Given the description of an element on the screen output the (x, y) to click on. 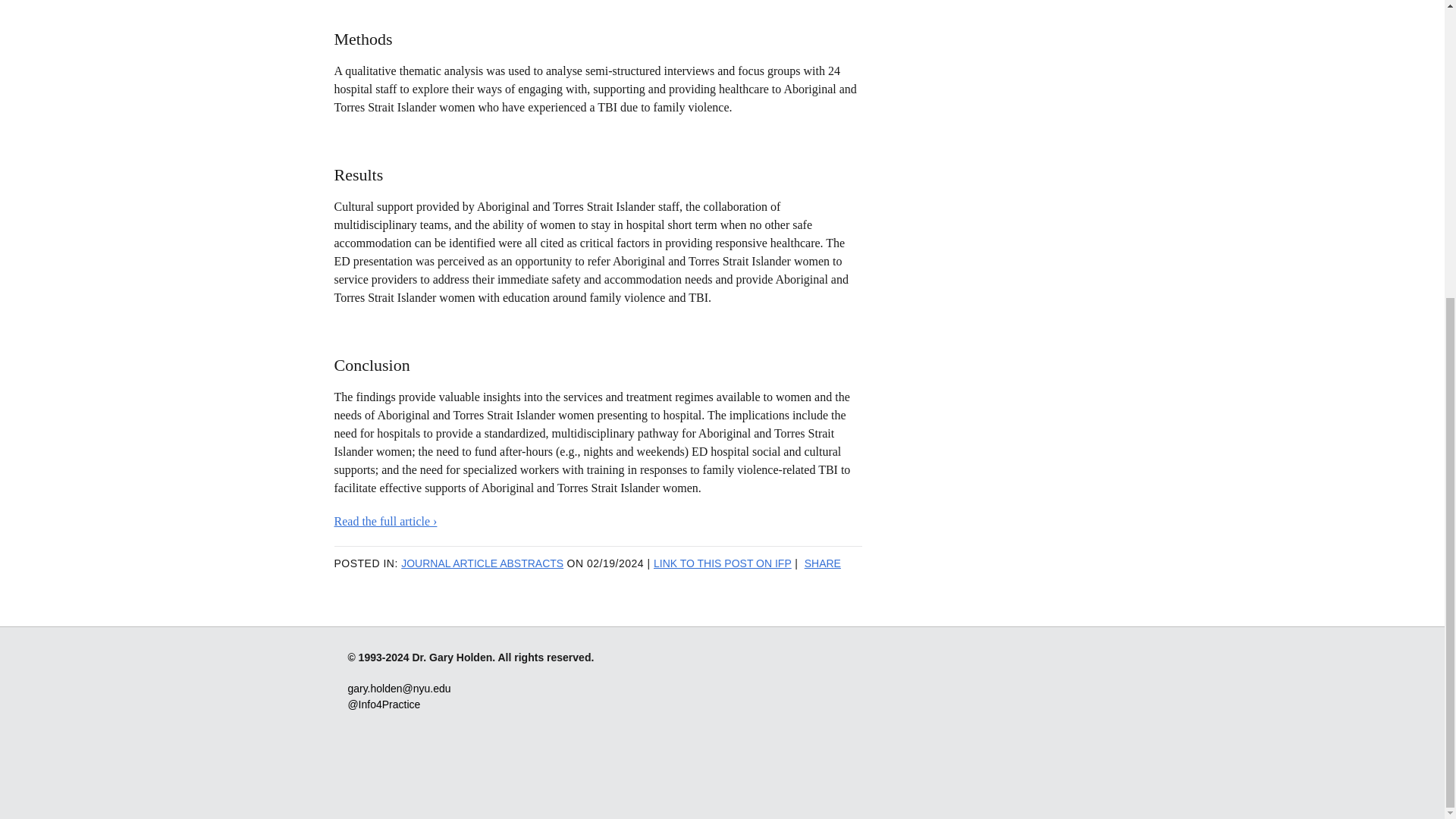
SHARE (823, 563)
LINK TO THIS POST ON IFP (722, 563)
JOURNAL ARTICLE ABSTRACTS (482, 563)
